Given the description of an element on the screen output the (x, y) to click on. 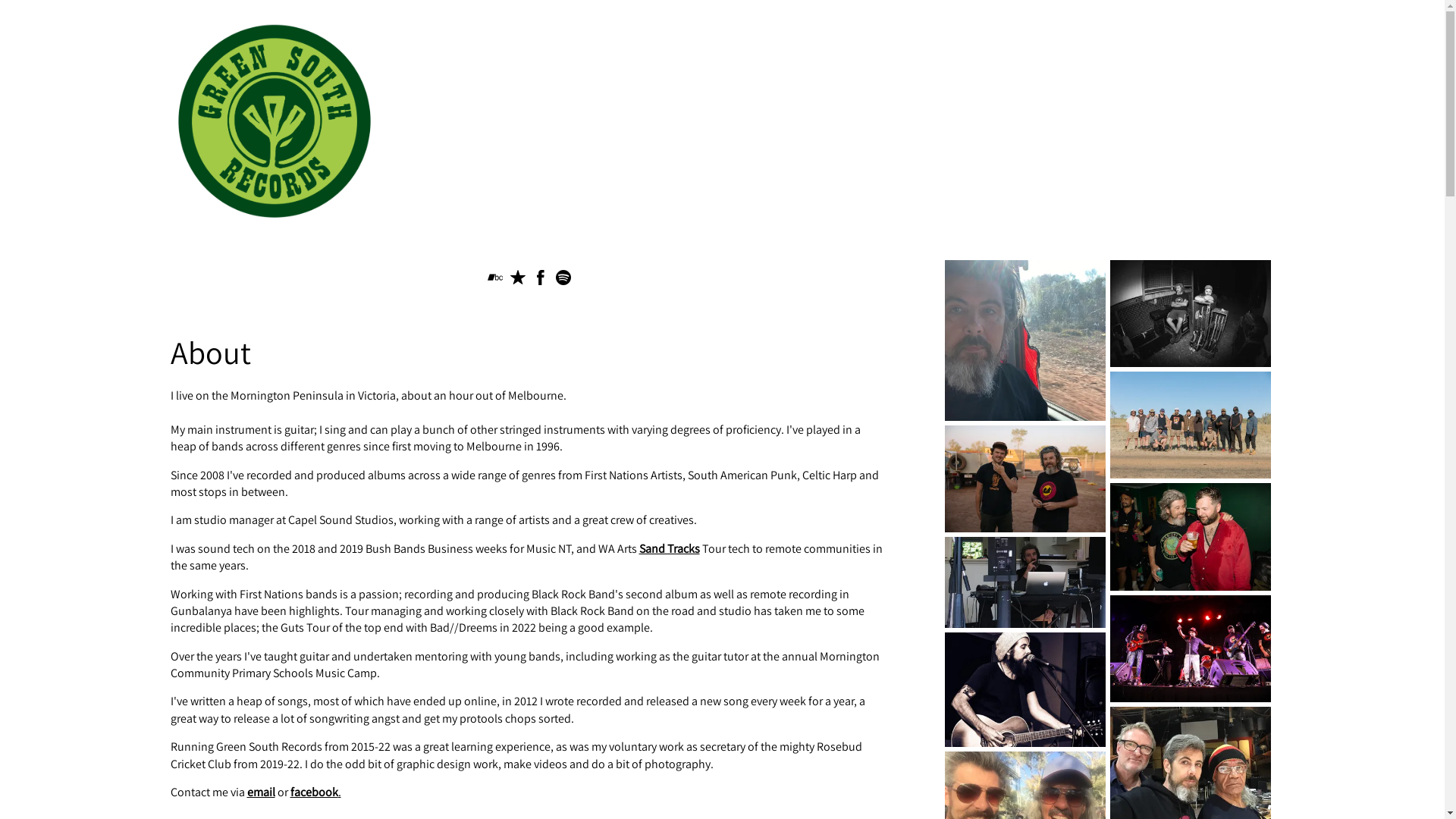
email Element type: text (261, 792)
https://davewalker.bandcamp.com Element type: hover (494, 279)
https://itunes.apple.com/au/album/fake-hotel/1143665457 Element type: hover (517, 279)
Sand Tracks Element type: text (668, 548)
facebook. Element type: text (314, 792)
https://www.facebook.com/davewalkergsr Element type: hover (540, 279)
